Given the description of an element on the screen output the (x, y) to click on. 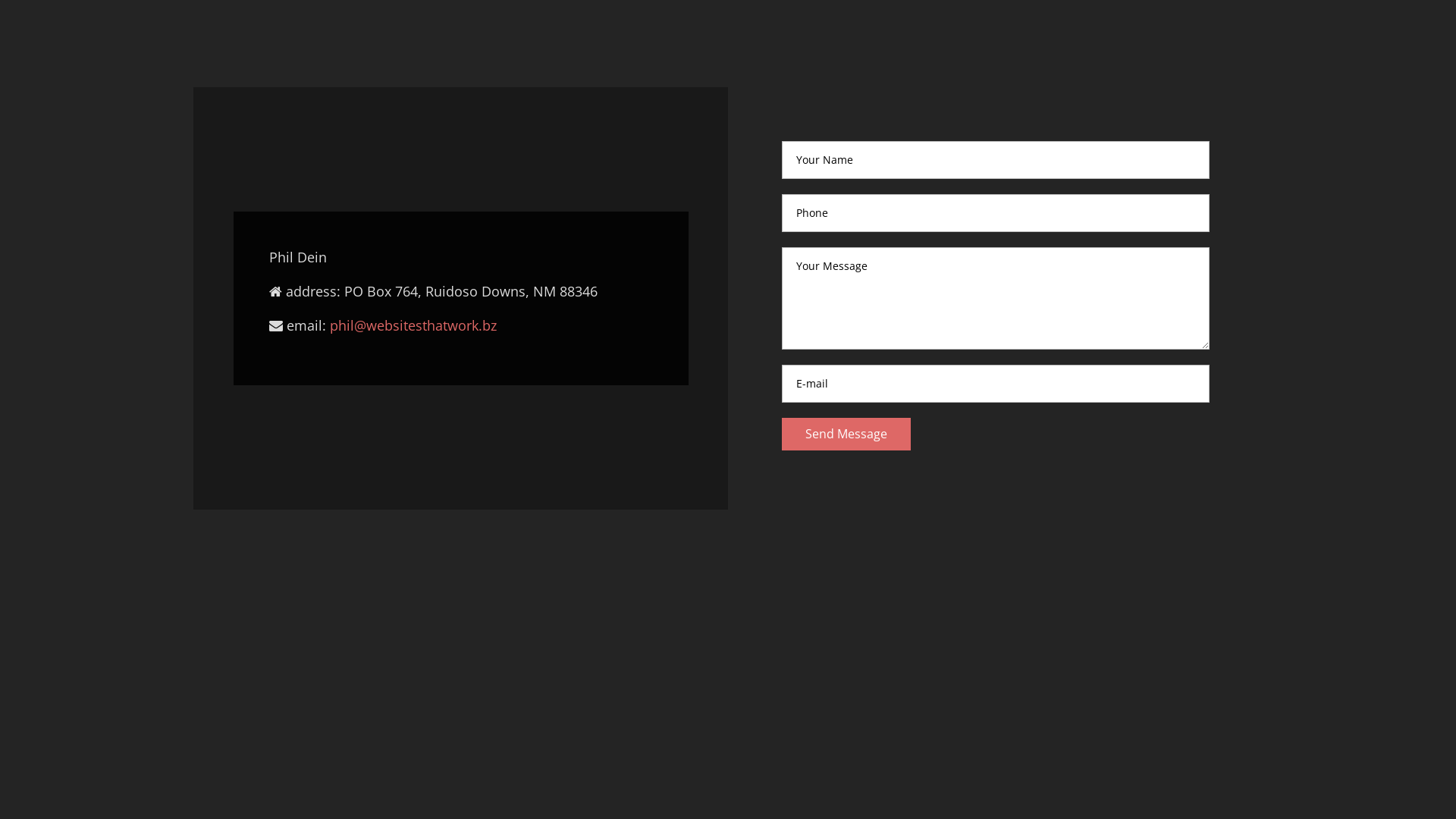
Send Message Element type: text (845, 433)
phil@websitesthatwork.bz Element type: text (412, 325)
